Given the description of an element on the screen output the (x, y) to click on. 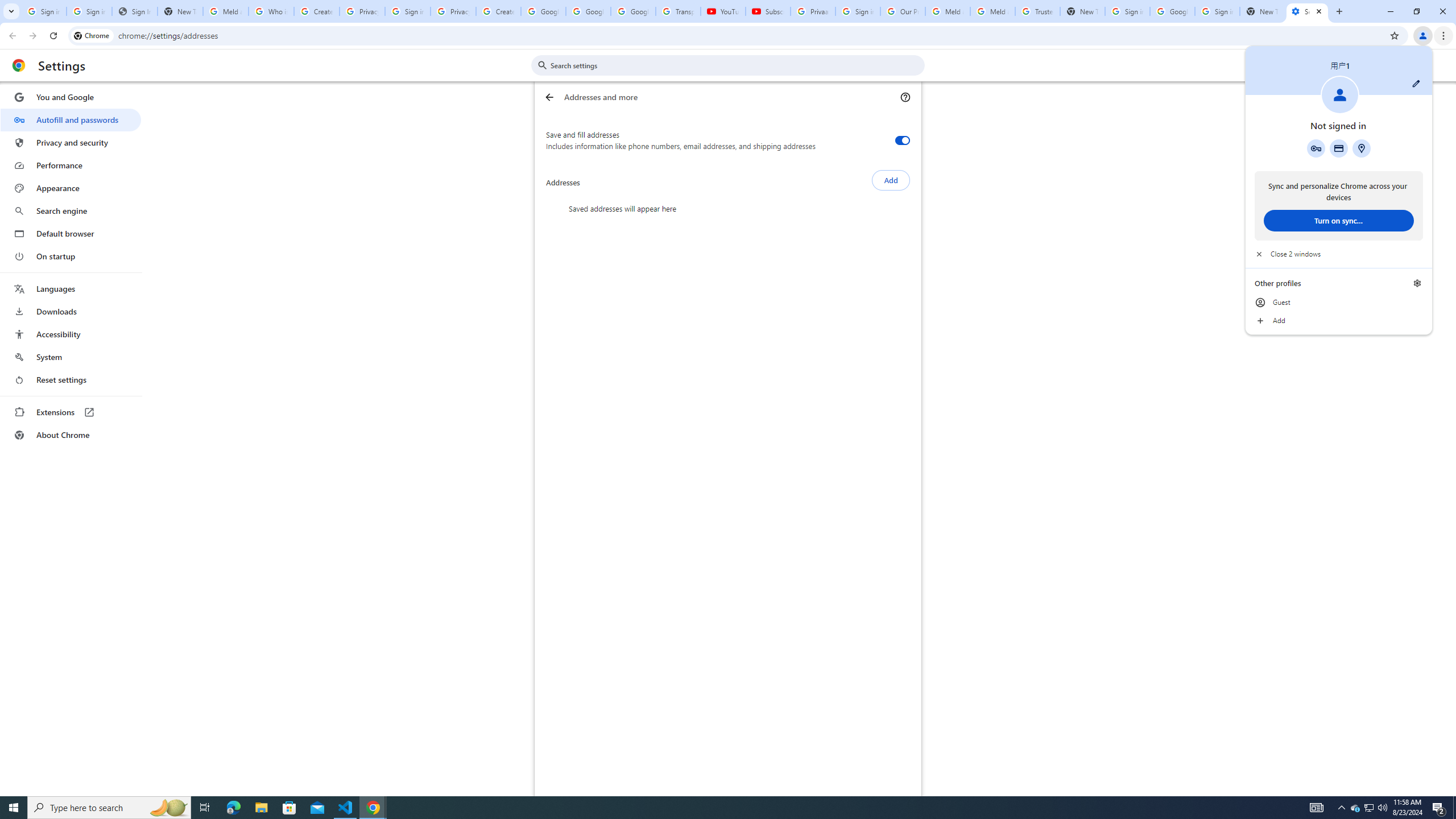
Sign in - Google Accounts (43, 11)
User Promoted Notification Area (1368, 807)
Manage profiles (1417, 283)
Close 2 windows (1338, 253)
Microsoft Edge (233, 807)
Sign in - Google Accounts (88, 11)
Show desktop (1454, 807)
Payment methods (1338, 148)
Search engine (70, 210)
Performance (70, 164)
Languages (70, 288)
